Given the description of an element on the screen output the (x, y) to click on. 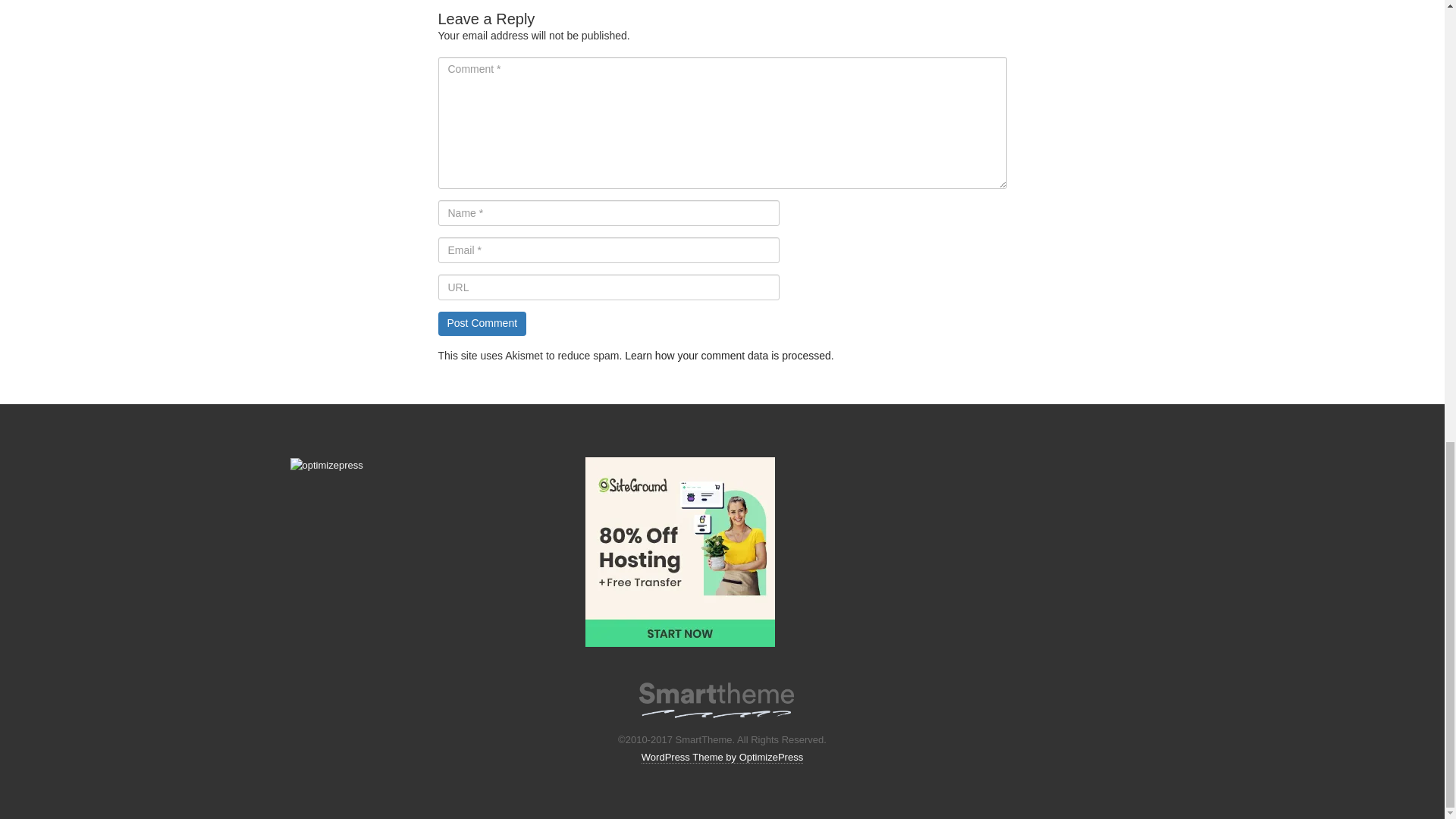
Post Comment (482, 323)
The Marketing Moms (716, 696)
Post Comment (482, 323)
Learn how your comment data is processed (727, 355)
WordPress Theme by OptimizePress (722, 757)
